Given the description of an element on the screen output the (x, y) to click on. 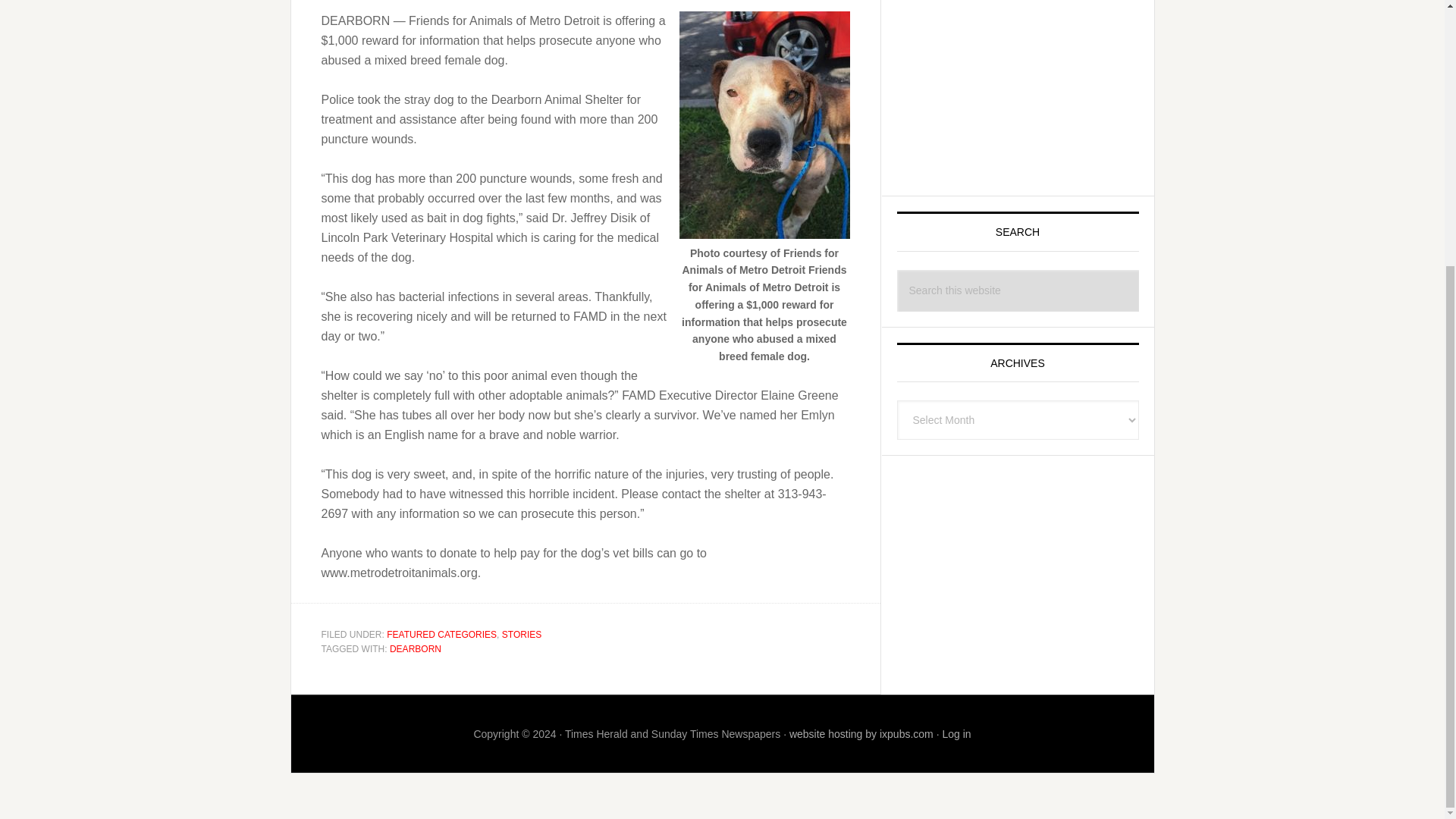
FEATURED CATEGORIES (441, 633)
Log in (956, 733)
website hosting by ixpubs.com (861, 733)
DEARBORN (415, 648)
STORIES (521, 633)
